Given the description of an element on the screen output the (x, y) to click on. 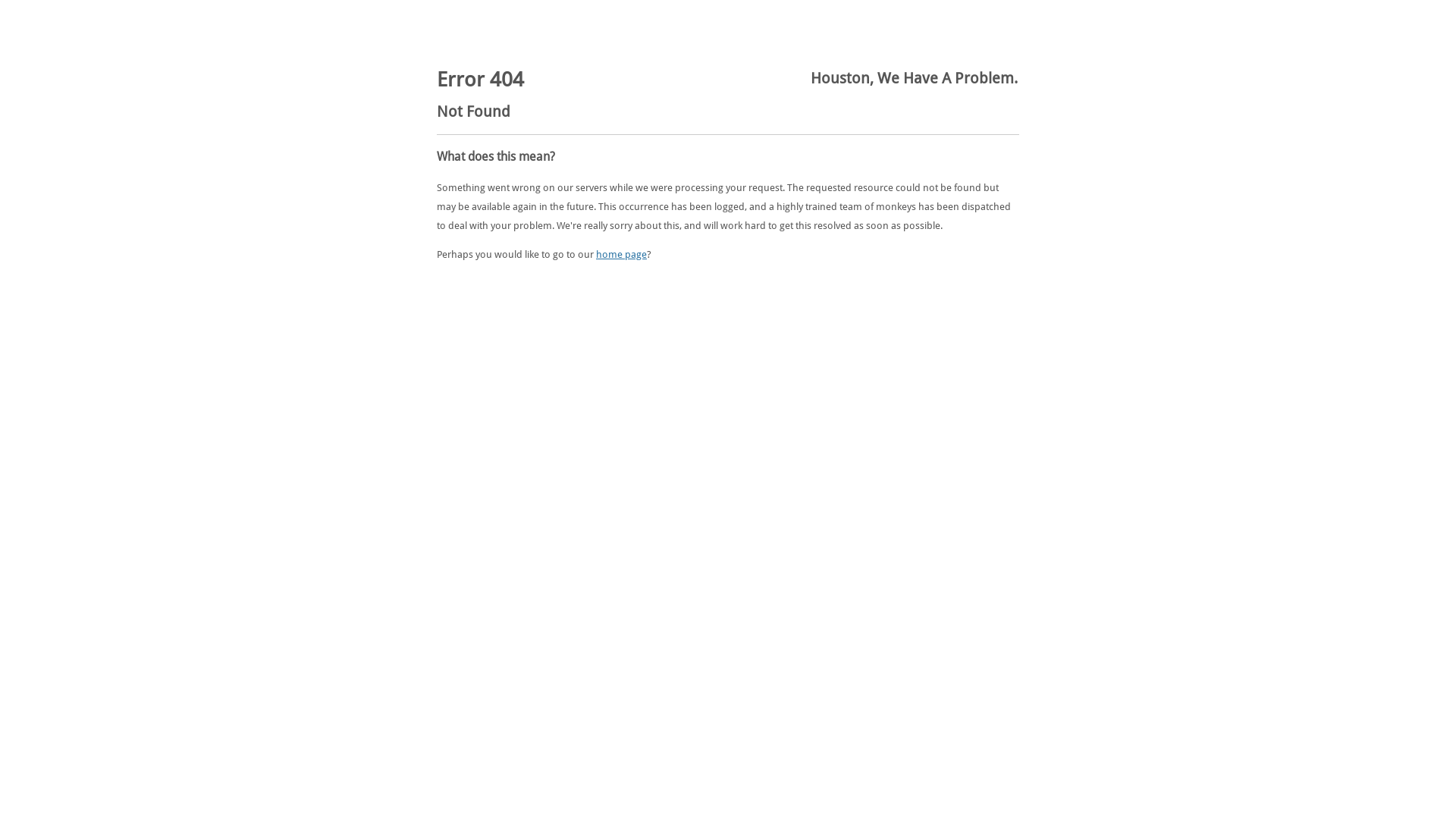
home page Element type: text (621, 254)
